Given the description of an element on the screen output the (x, y) to click on. 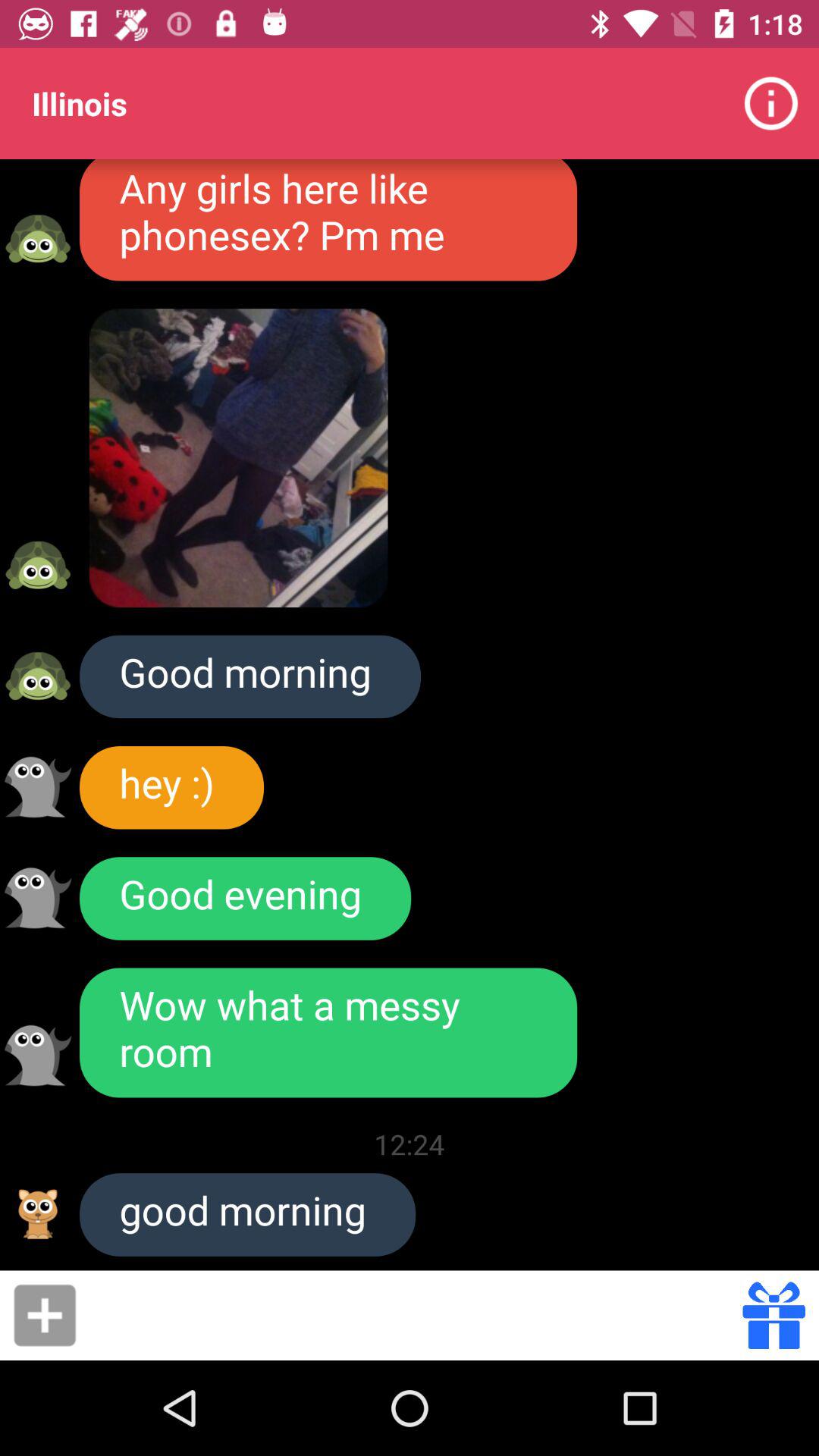
click the icon below the any girls here (238, 457)
